Given the description of an element on the screen output the (x, y) to click on. 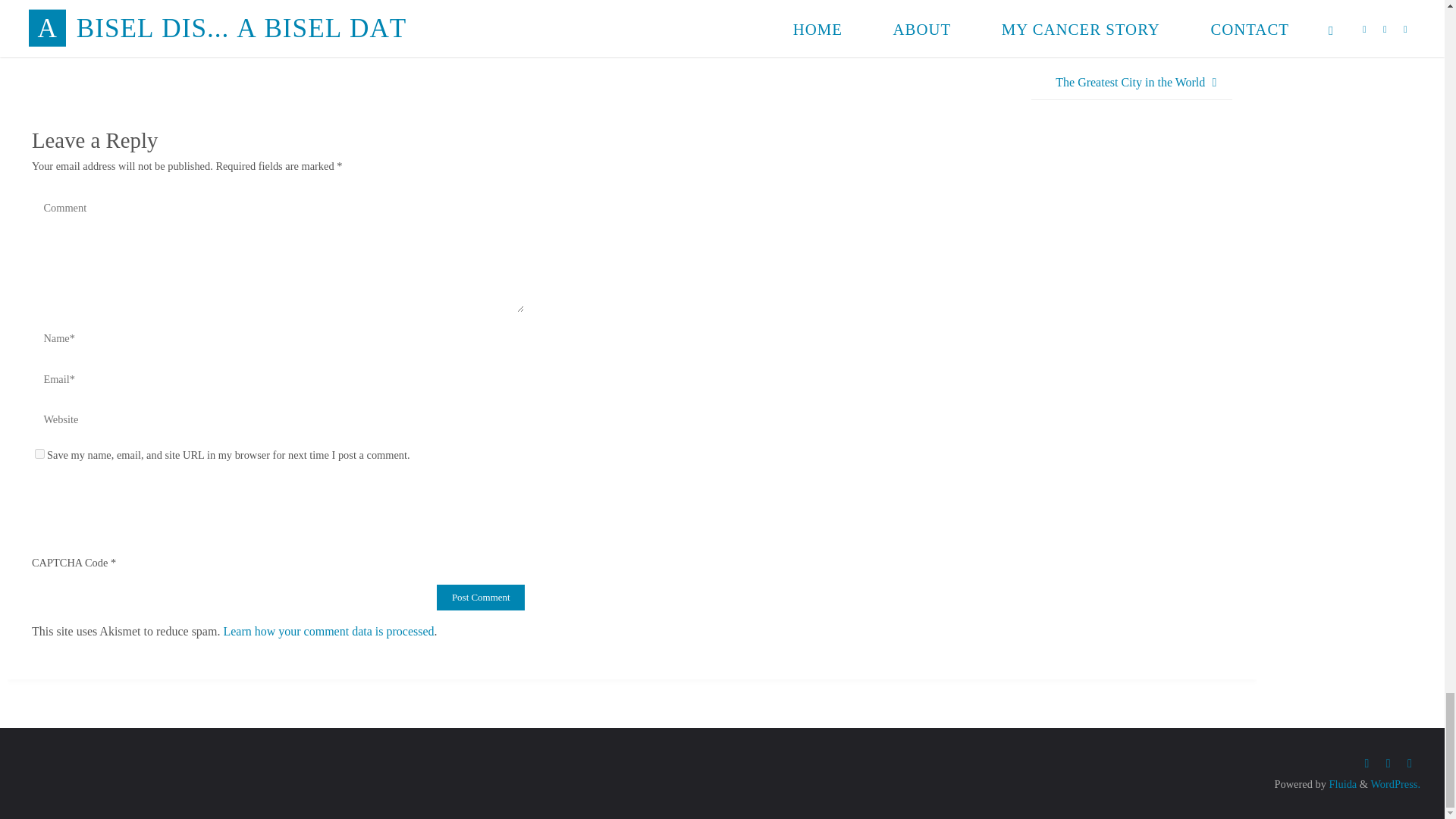
The Greatest City in the World (1130, 82)
Refresh (140, 493)
Urban Day Hike (97, 48)
CAPTCHA (82, 500)
yes (39, 453)
Post Comment (480, 597)
